Given the description of an element on the screen output the (x, y) to click on. 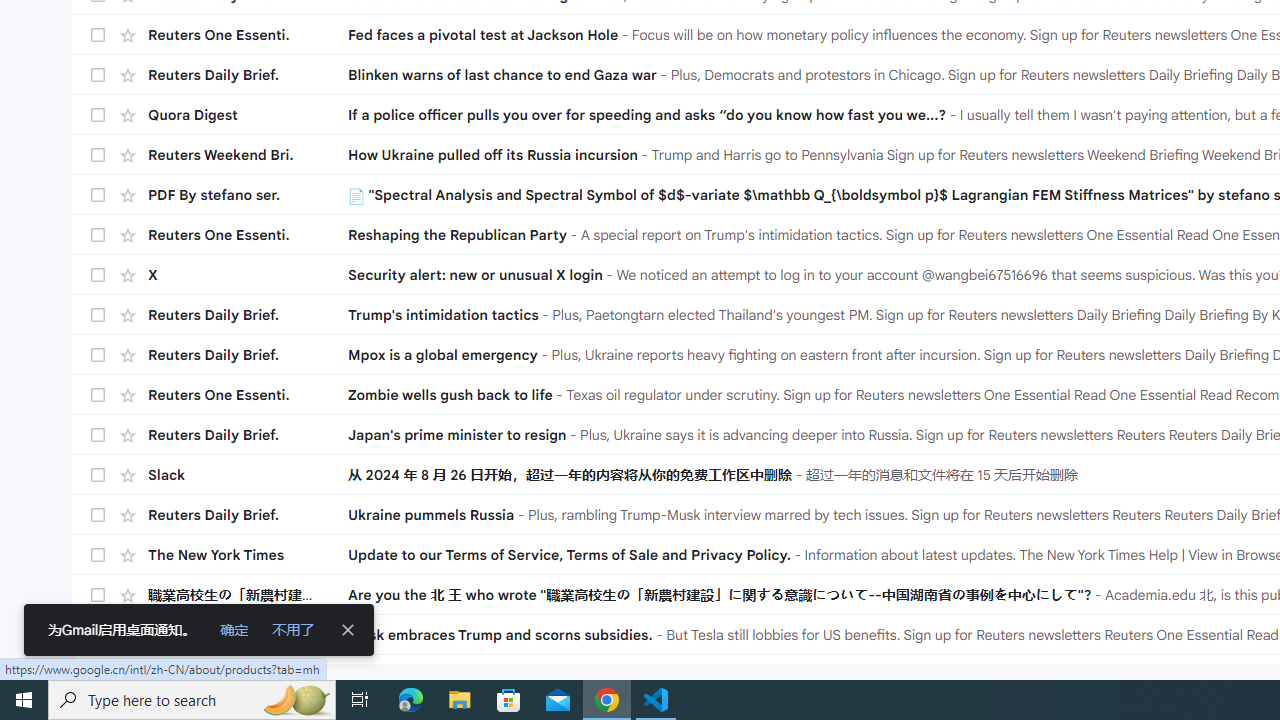
Reuters Daily Brief. (248, 514)
